Given the description of an element on the screen output the (x, y) to click on. 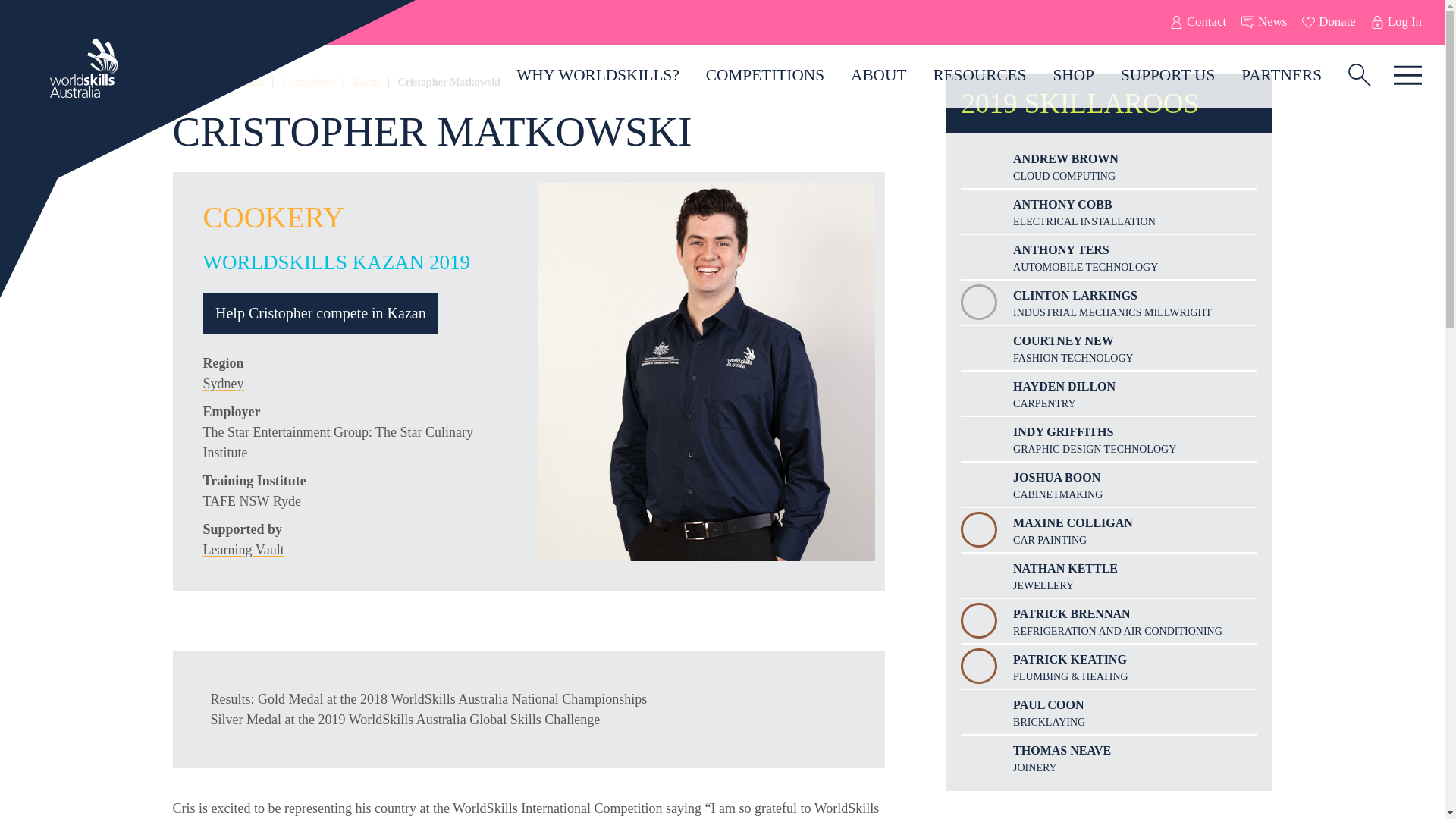
ANTHONY COBB
ELECTRICAL INSTALLATION Element type: text (1108, 211)
PARTNERS Element type: text (1281, 75)
Sydney Element type: text (223, 383)
Help Cristopher compete in Kazan Element type: text (321, 313)
Contact Element type: text (1198, 21)
MAXINE COLLIGAN
CAR PAINTING Element type: text (1108, 529)
PATRICK BRENNAN
REFRIGERATION AND AIR CONDITIONING Element type: text (1108, 620)
COURTNEY NEW
FASHION TECHNOLOGY Element type: text (1108, 347)
COMPETITIONS Element type: text (764, 75)
SHOP Element type: text (1073, 75)
ANTHONY TERS
AUTOMOBILE TECHNOLOGY Element type: text (1108, 256)
Log In Element type: text (1396, 21)
ABOUT Element type: text (878, 75)
ANDREW BROWN
CLOUD COMPUTING Element type: text (1108, 165)
INDY GRIFFITHS
GRAPHIC DESIGN TECHNOLOGY Element type: text (1108, 438)
SUPPORT US Element type: text (1167, 75)
RESOURCES Element type: text (979, 75)
PATRICK KEATING
PLUMBING & HEATING Element type: text (1108, 666)
COOKERY Element type: text (273, 216)
PAUL COON
BRICKLAYING Element type: text (1108, 711)
Donate Element type: text (1328, 21)
Kazan Element type: text (365, 81)
JOSHUA BOON
CABINETMAKING Element type: text (1108, 484)
Competitors Element type: text (308, 81)
NATHAN KETTLE
JEWELLERY Element type: text (1108, 575)
WHY WORLDSKILLS? Element type: text (598, 75)
Learning Vault Element type: text (243, 549)
THOMAS NEAVE
JOINERY Element type: text (1108, 757)
CLINTON LARKINGS
INDUSTRIAL MECHANICS MILLWRIGHT Element type: text (1108, 302)
WorldSkills Australia Element type: text (218, 81)
HAYDEN DILLON
CARPENTRY Element type: text (1108, 393)
News Element type: text (1263, 21)
